Given the description of an element on the screen output the (x, y) to click on. 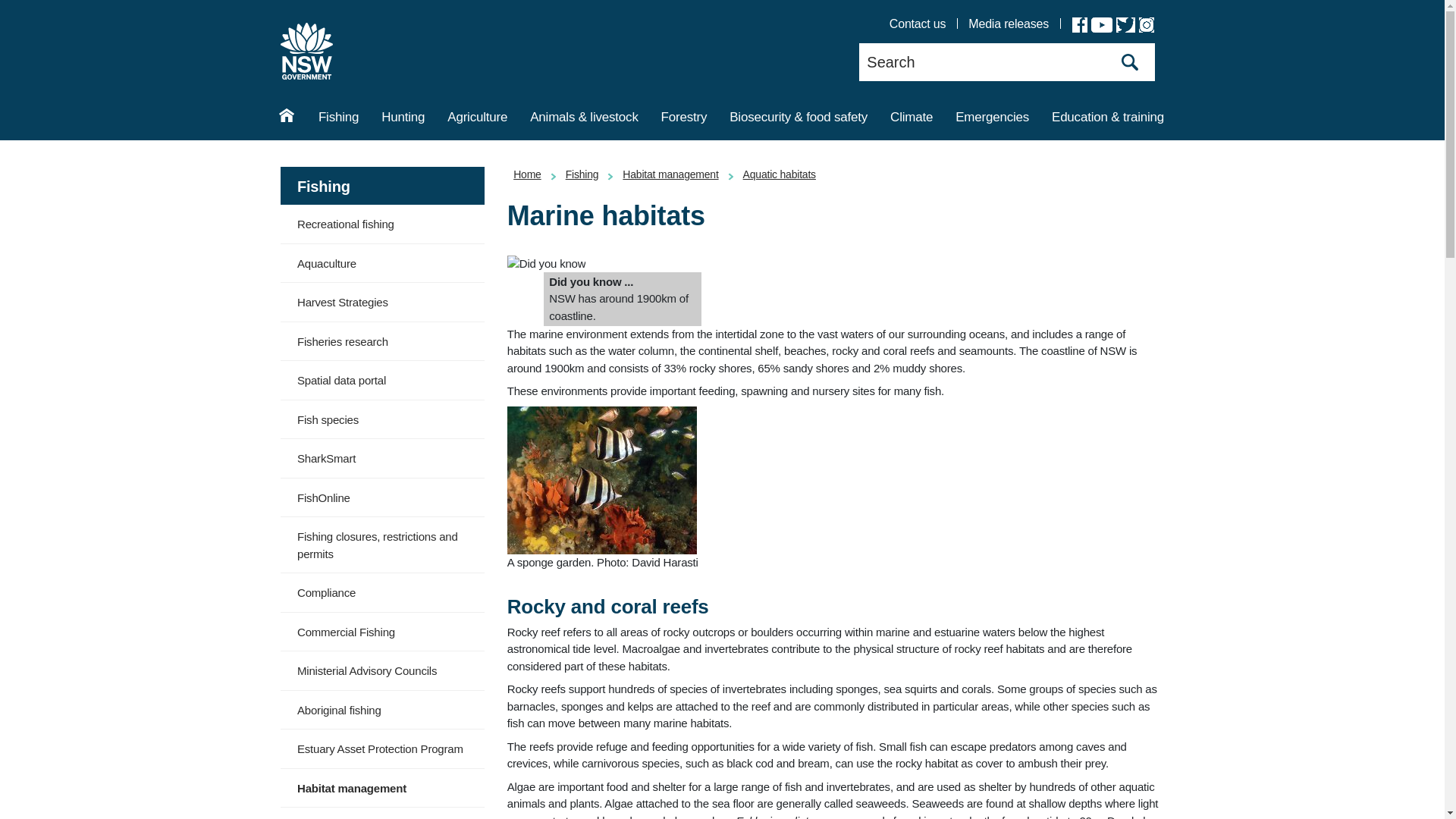
Contact us (916, 24)
Go (1129, 62)
Media releases (1008, 24)
Hunting (402, 119)
Fishing (338, 119)
Go (1129, 62)
Website - DPI new (307, 50)
Go (1129, 62)
